Given the description of an element on the screen output the (x, y) to click on. 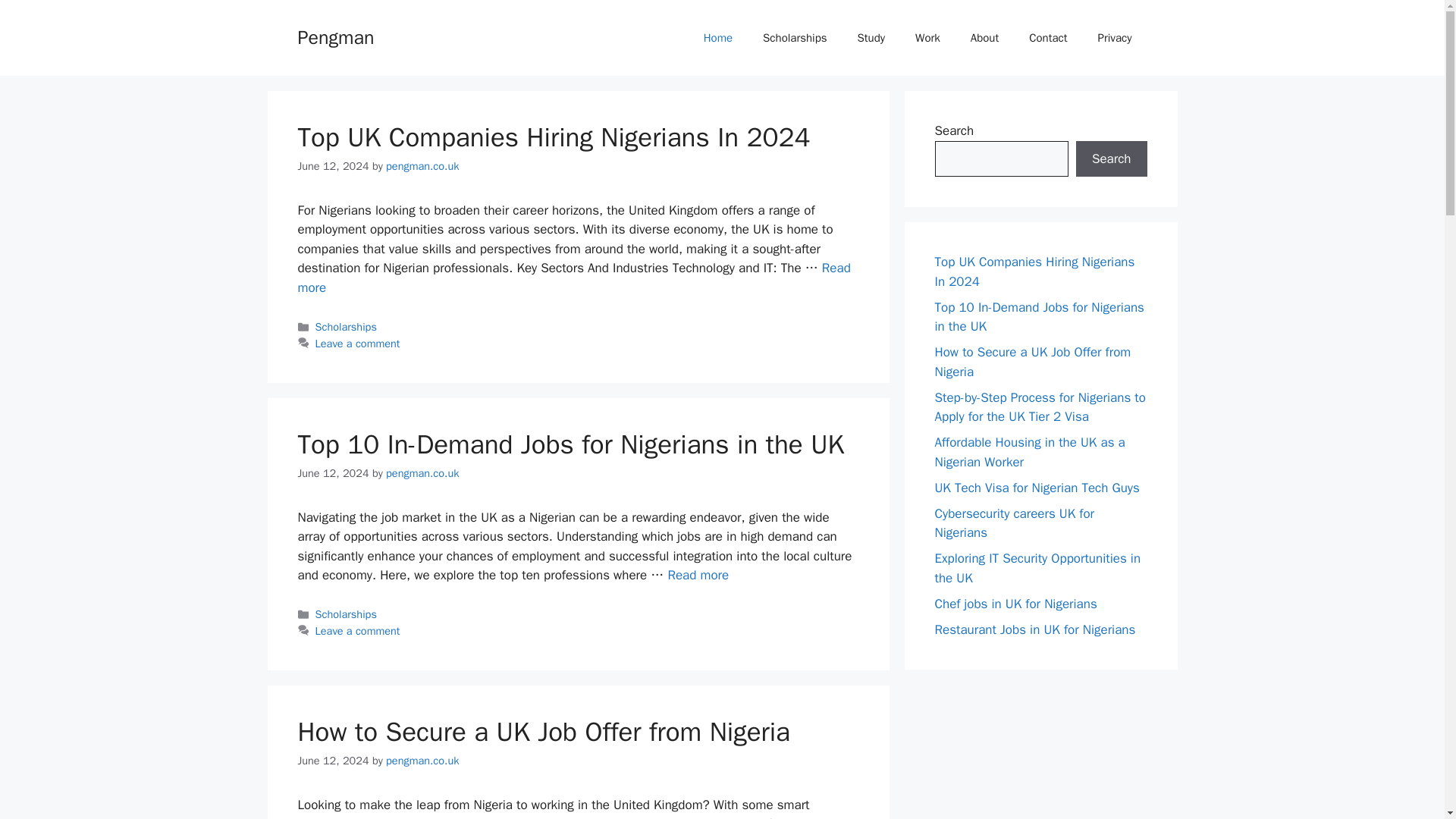
Work (927, 37)
Read more (573, 277)
Contact (1047, 37)
How to Secure a UK Job Offer from Nigeria (543, 731)
pengman.co.uk (421, 165)
Top 10 In-Demand Jobs for Nigerians in the UK (697, 575)
Top UK Companies Hiring Nigerians In 2024 (553, 136)
Scholarships (346, 613)
About (984, 37)
pengman.co.uk (421, 760)
Leave a comment (357, 631)
View all posts by pengman.co.uk (421, 472)
Scholarships (346, 326)
Privacy (1115, 37)
pengman.co.uk (421, 472)
